Given the description of an element on the screen output the (x, y) to click on. 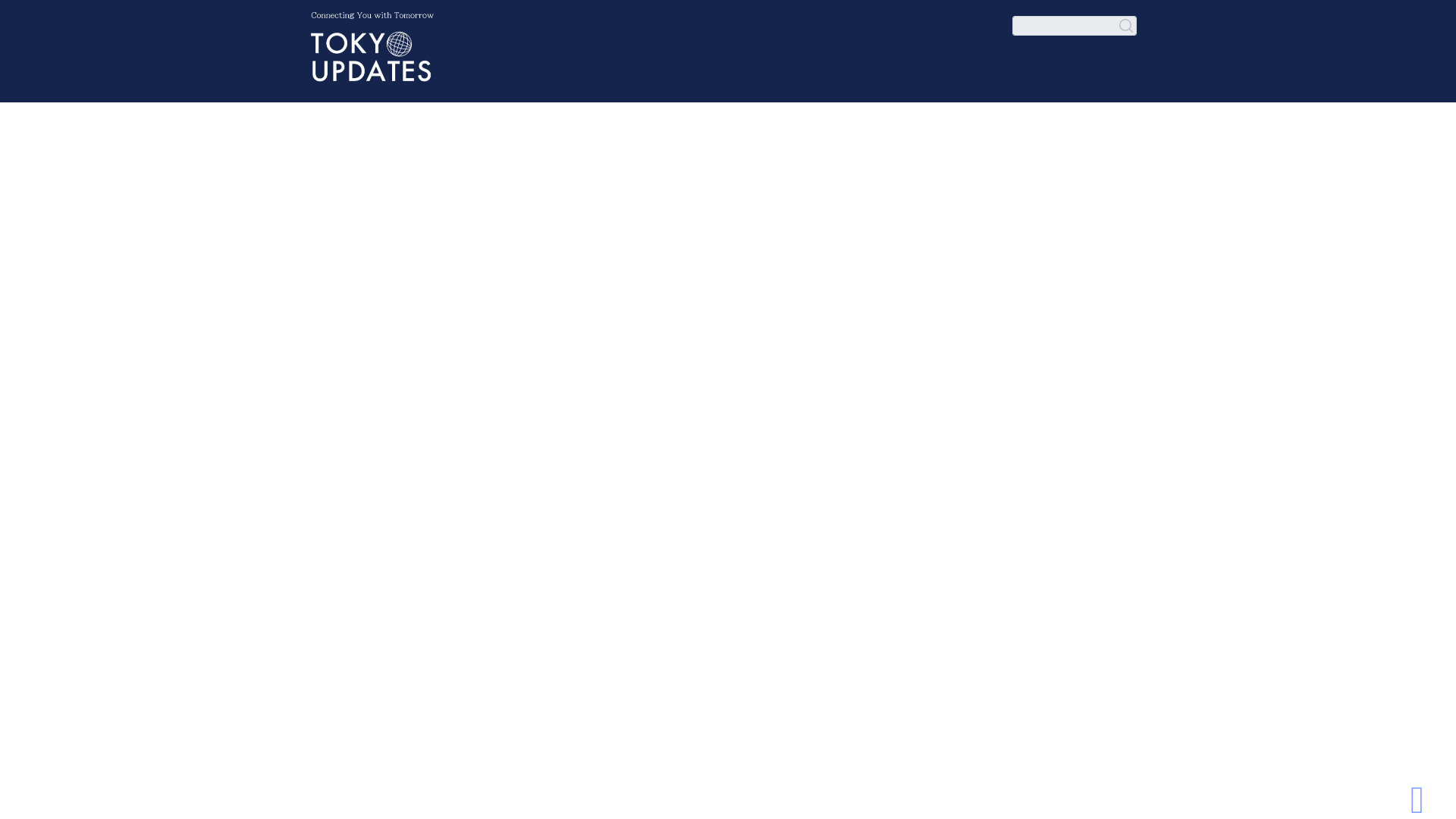
Search (1074, 25)
Search (1126, 25)
